Given the description of an element on the screen output the (x, y) to click on. 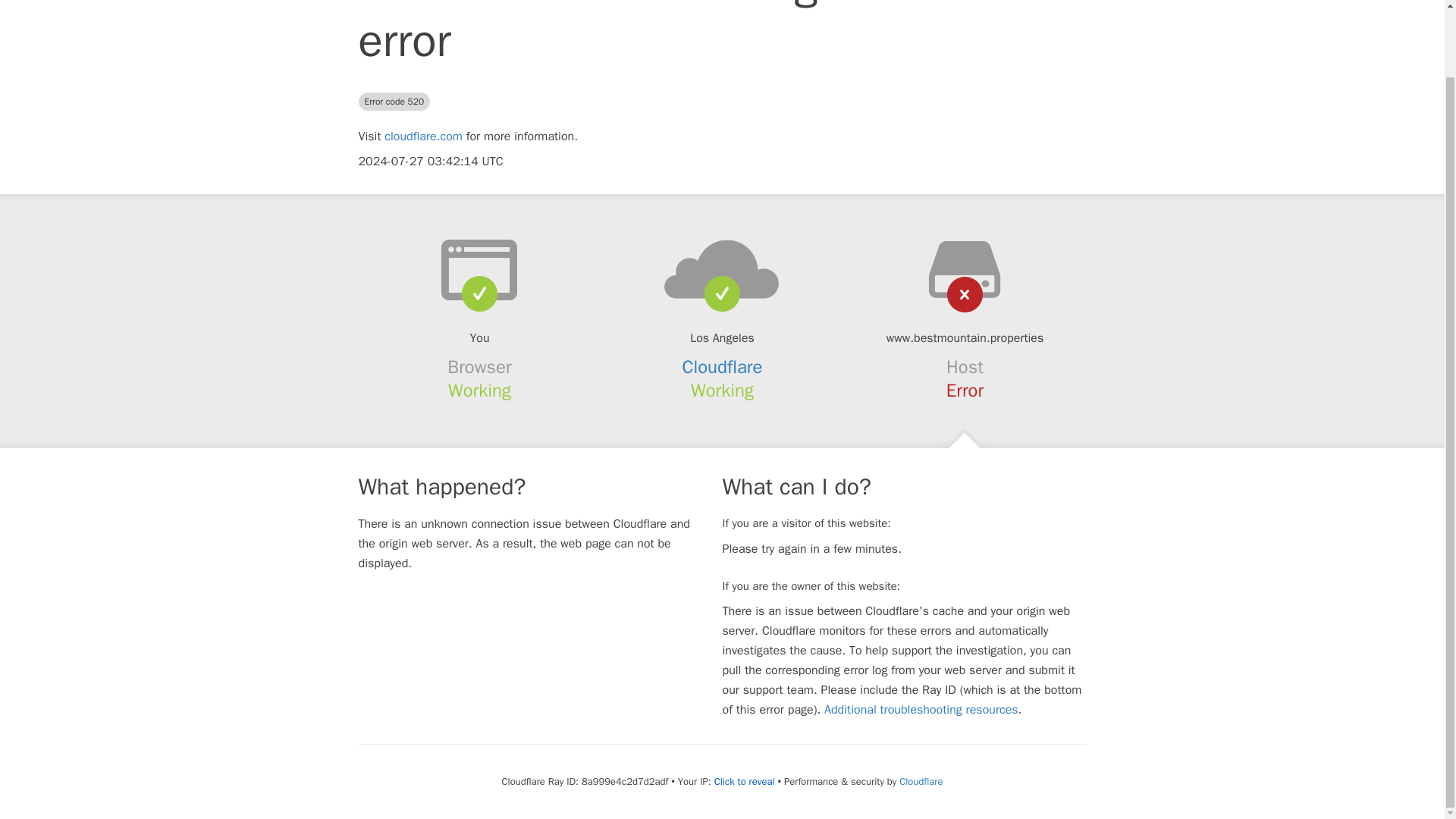
Cloudflare (722, 366)
Click to reveal (744, 781)
Cloudflare (920, 780)
cloudflare.com (423, 136)
Additional troubleshooting resources (920, 709)
